Given the description of an element on the screen output the (x, y) to click on. 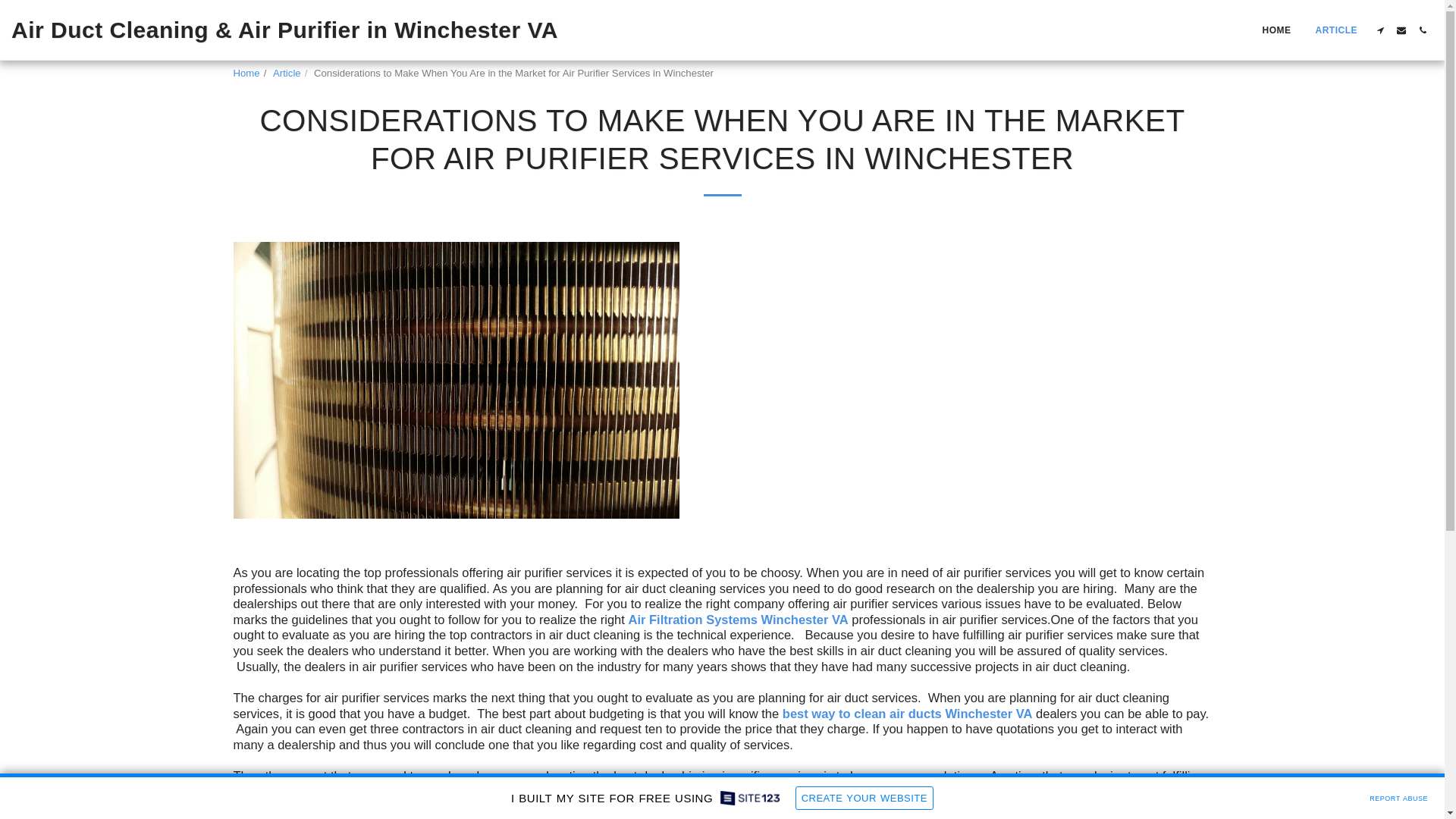
Article (287, 72)
Air Filtration Systems Winchester VA (737, 619)
HOME (1276, 30)
Home (246, 72)
best way to clean air ducts Winchester VA (907, 713)
ARTICLE (1337, 30)
